Given the description of an element on the screen output the (x, y) to click on. 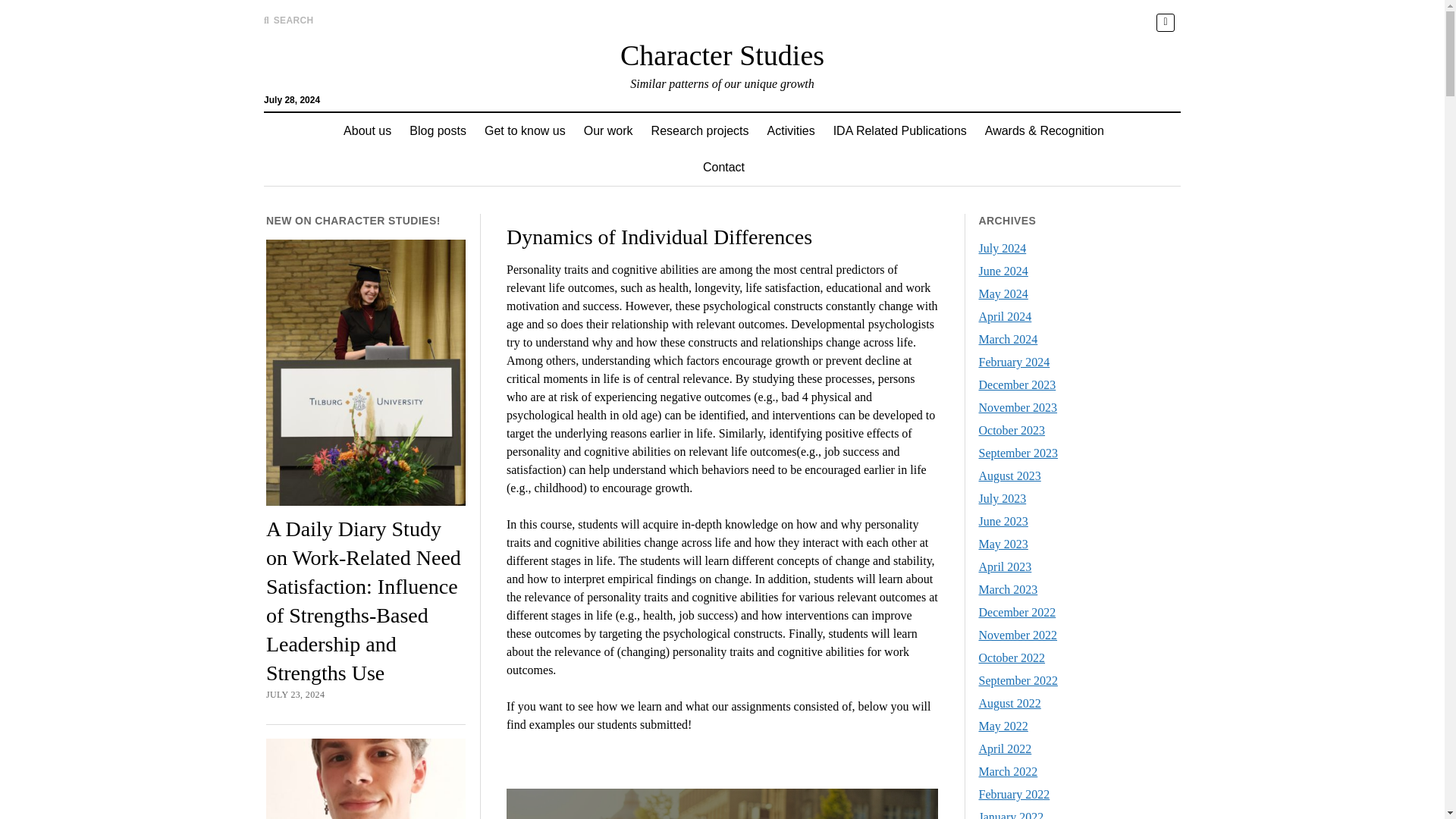
IDA Related Publications (899, 131)
Our work (608, 131)
Activities (791, 131)
Contact (724, 167)
Blog posts (438, 131)
Get to know us (525, 131)
About us (367, 131)
Research projects (700, 131)
SEARCH (288, 20)
Character Studies (722, 55)
Search (945, 129)
